Given the description of an element on the screen output the (x, y) to click on. 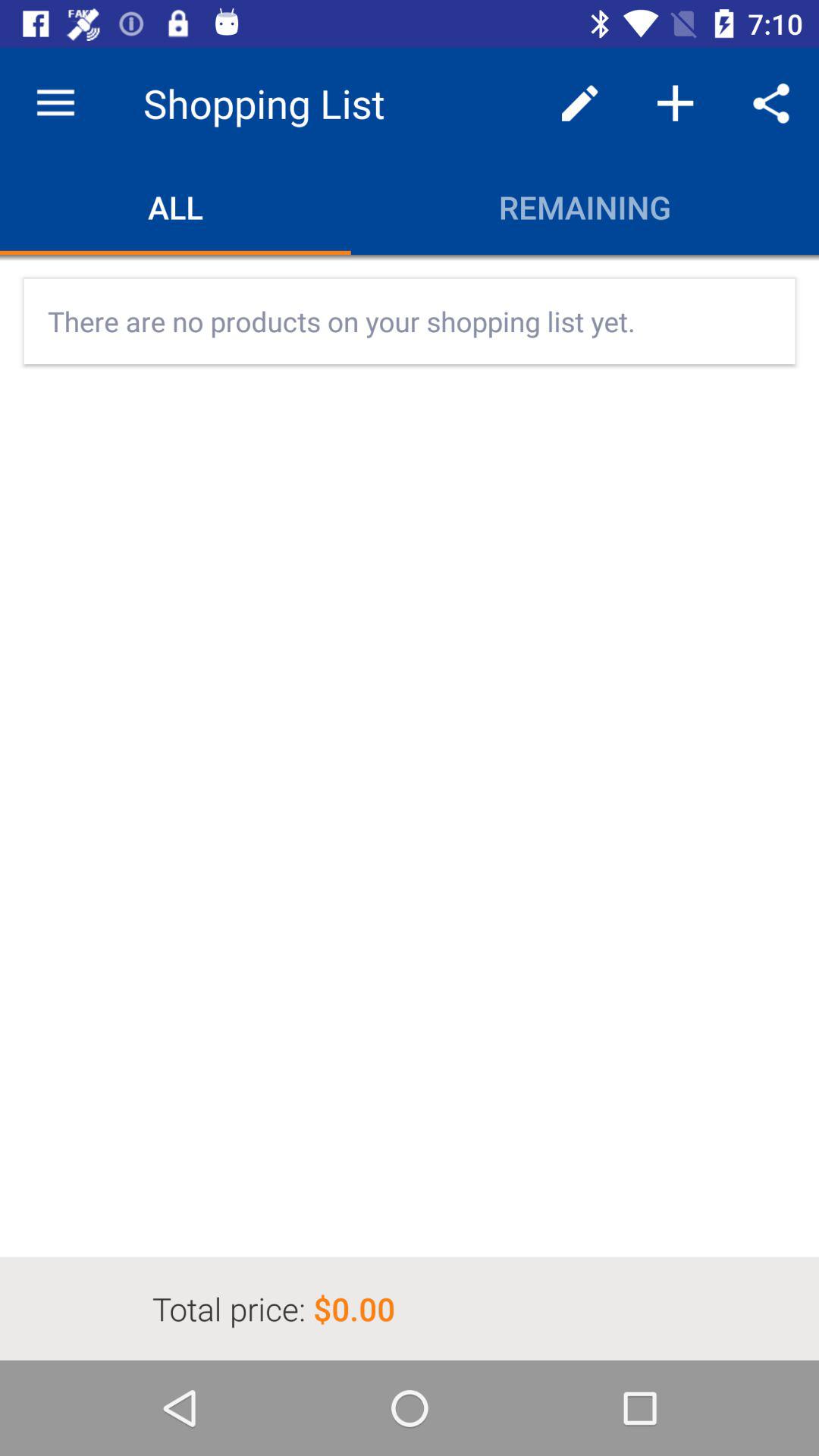
launch item above remaining (675, 103)
